Given the description of an element on the screen output the (x, y) to click on. 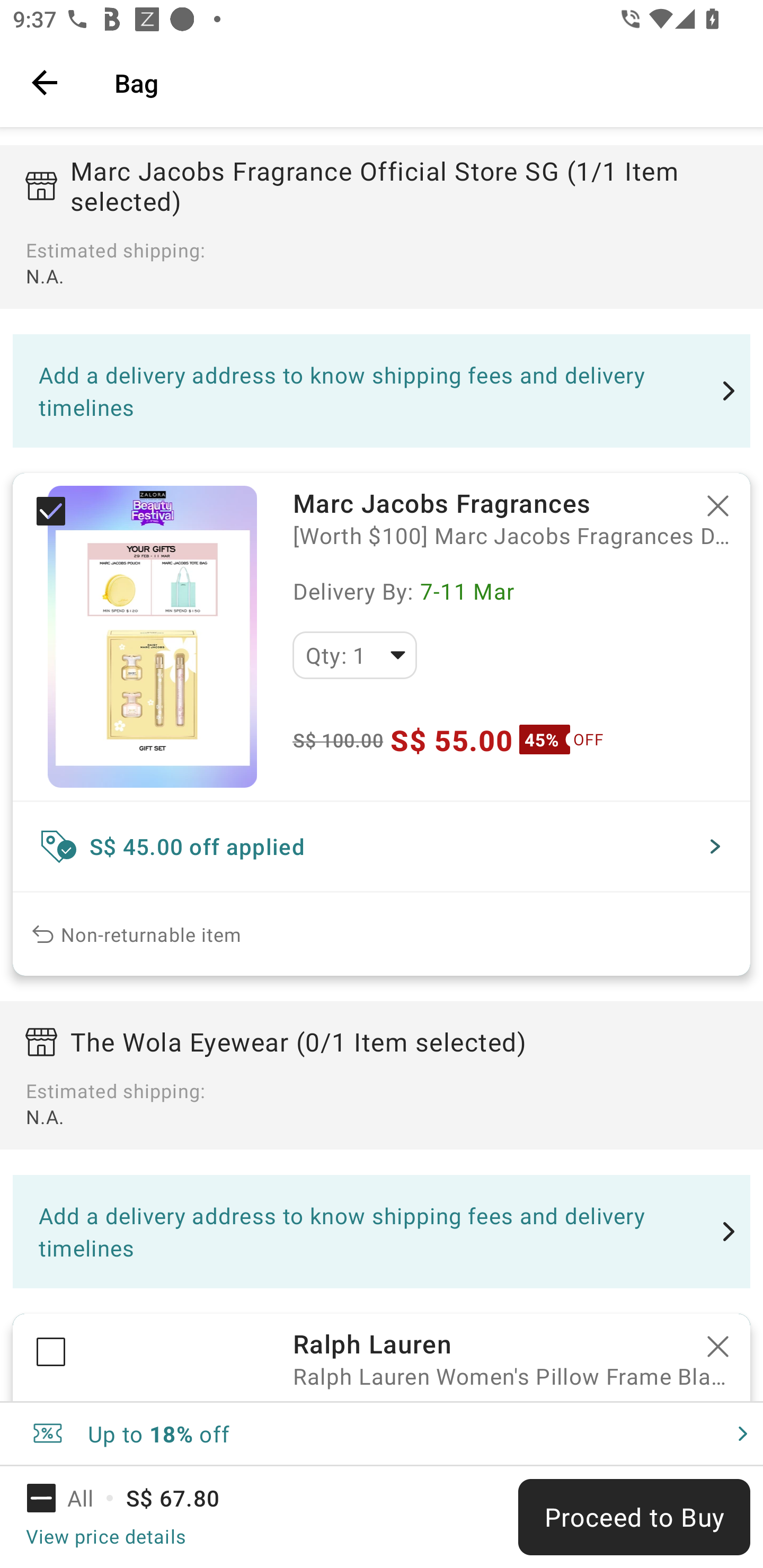
Navigate up (44, 82)
Bag (426, 82)
Qty: 1 (354, 654)
S$ 45.00 off applied (381, 845)
Up to 18% off (381, 1433)
All (72, 1497)
Proceed to Buy (634, 1516)
View price details (105, 1535)
